Given the description of an element on the screen output the (x, y) to click on. 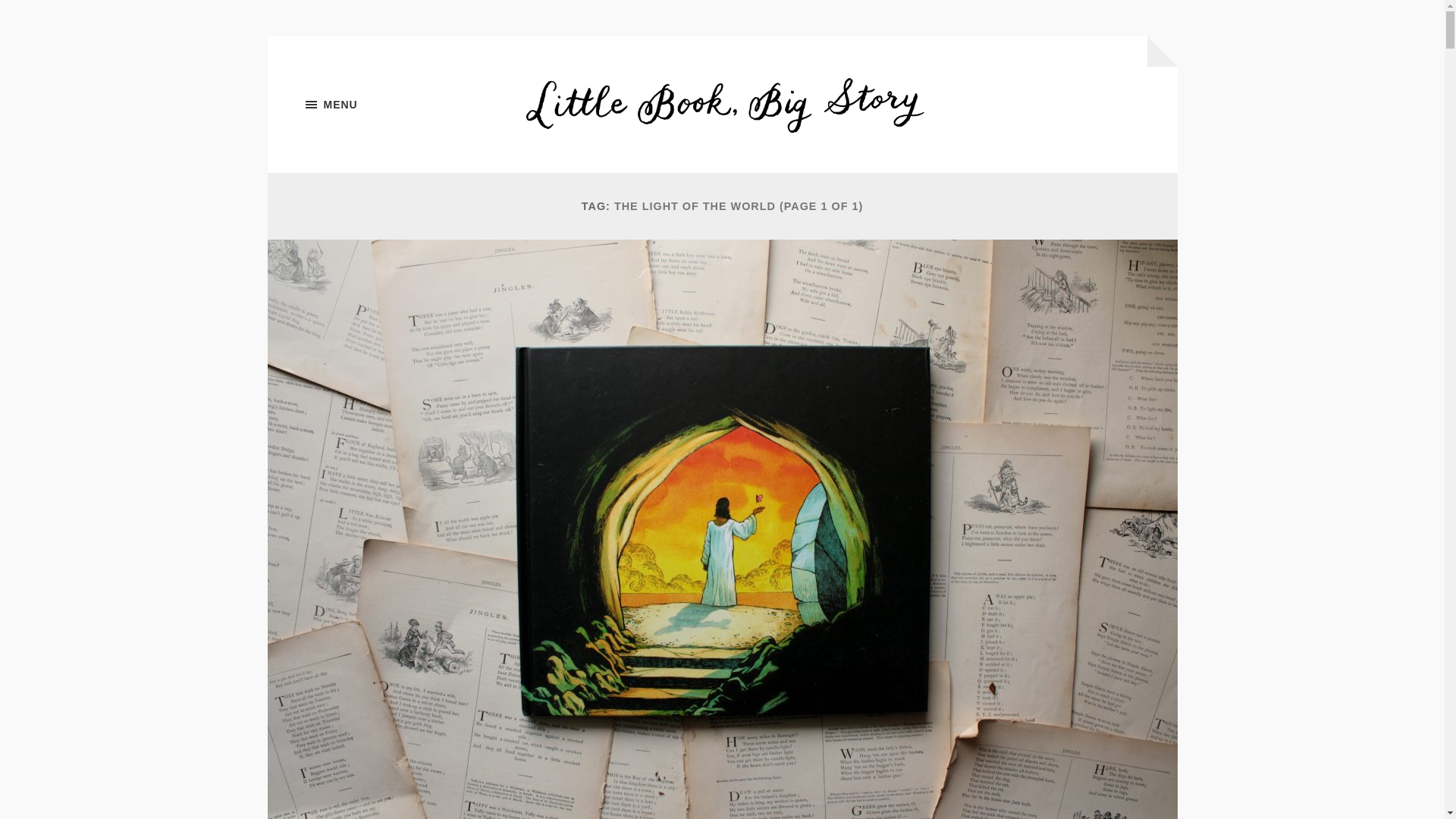
Little Book, Big Story (723, 104)
MENU (380, 104)
